Given the description of an element on the screen output the (x, y) to click on. 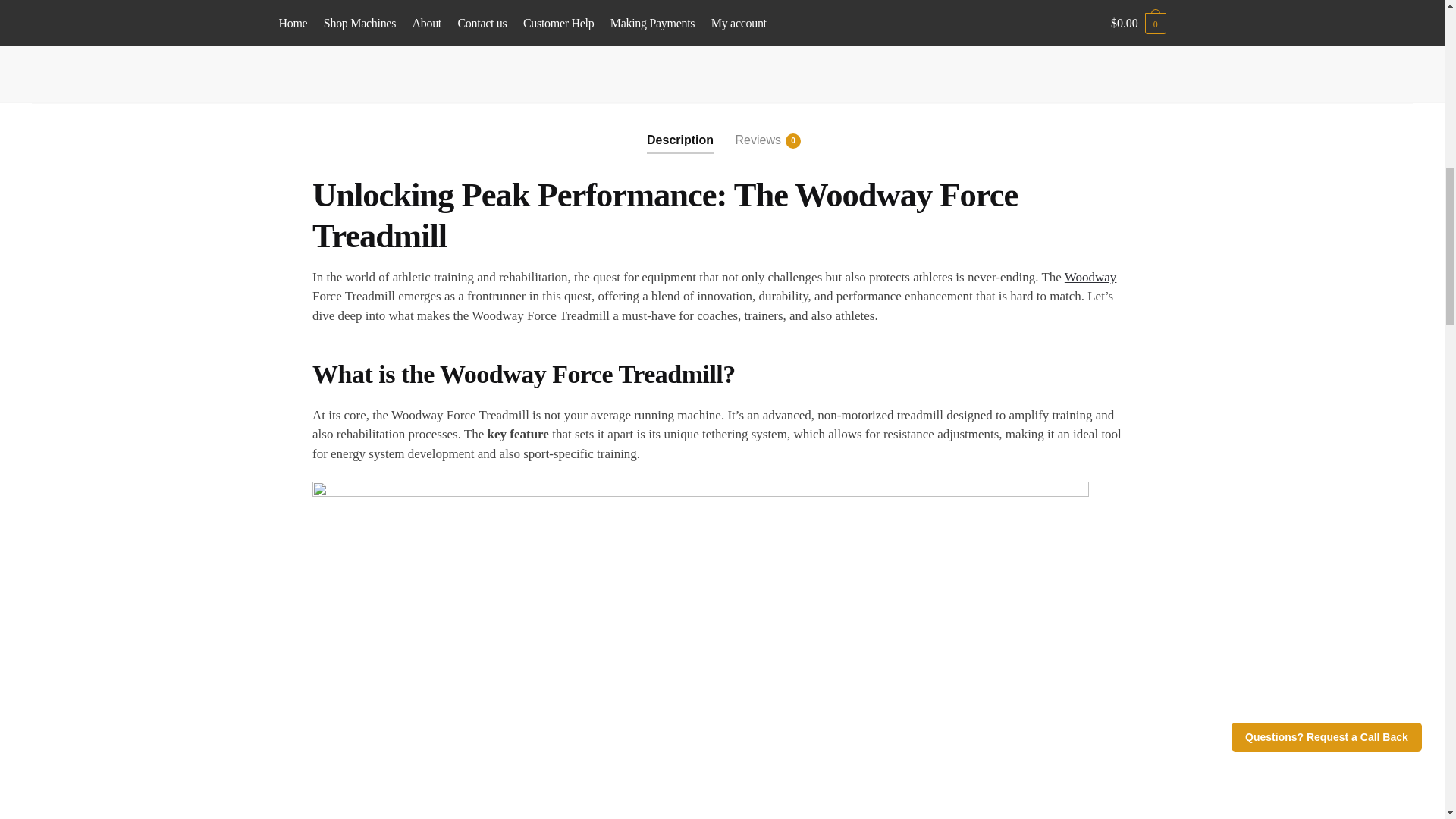
Description (757, 127)
Woodway (679, 127)
Add to cart (1090, 277)
